Given the description of an element on the screen output the (x, y) to click on. 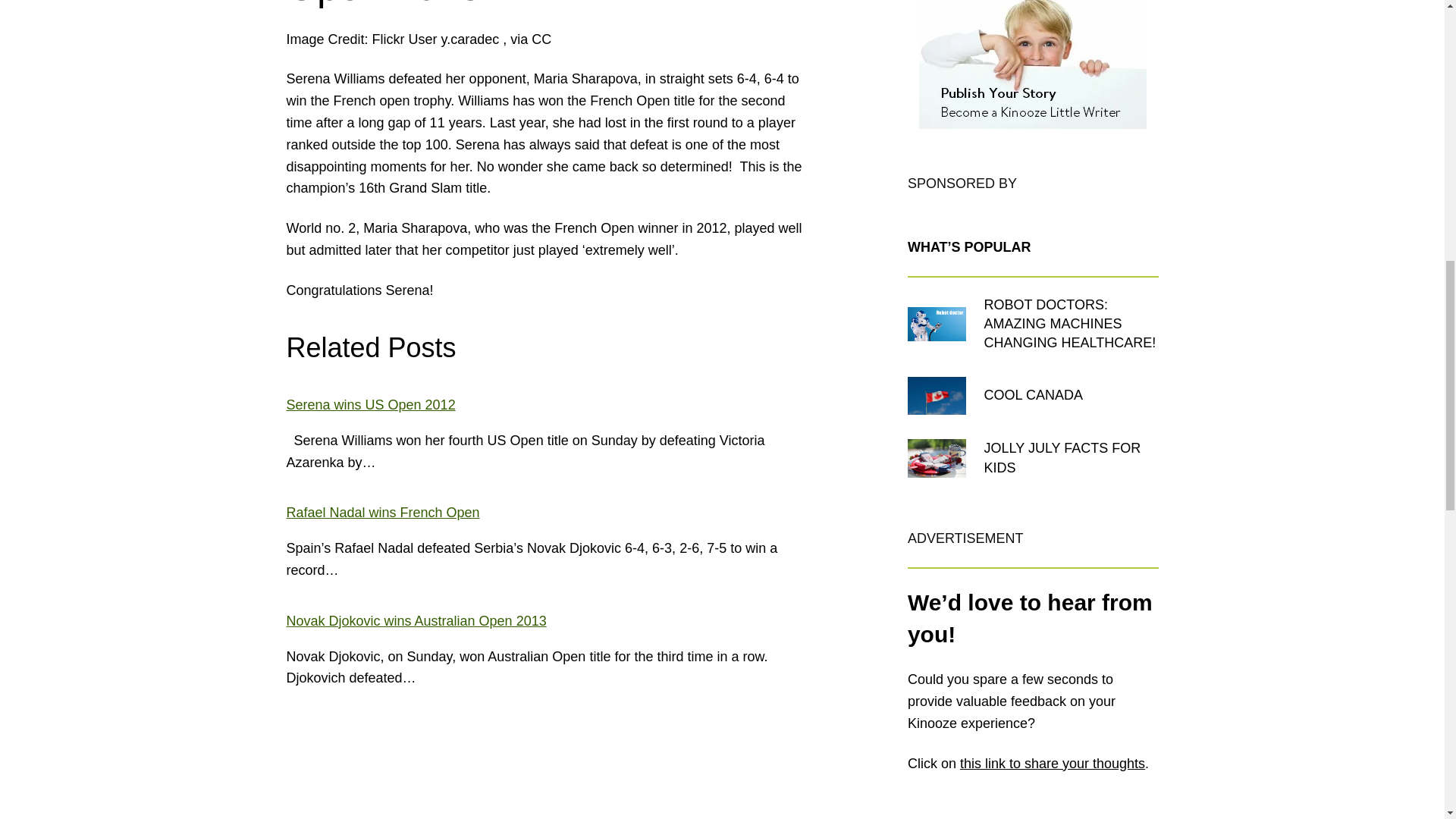
Rafael Nadal wins French Open (383, 512)
Novak Djokovic wins Australian Open 2013 (416, 620)
JOLLY JULY FACTS FOR KIDS (1071, 457)
COOL CANADA (1033, 394)
ROBOT DOCTORS: AMAZING MACHINES CHANGING HEALTHCARE! (1071, 323)
Serena wins US Open 2012 (370, 404)
this link to share your thoughts (1051, 763)
